Given the description of an element on the screen output the (x, y) to click on. 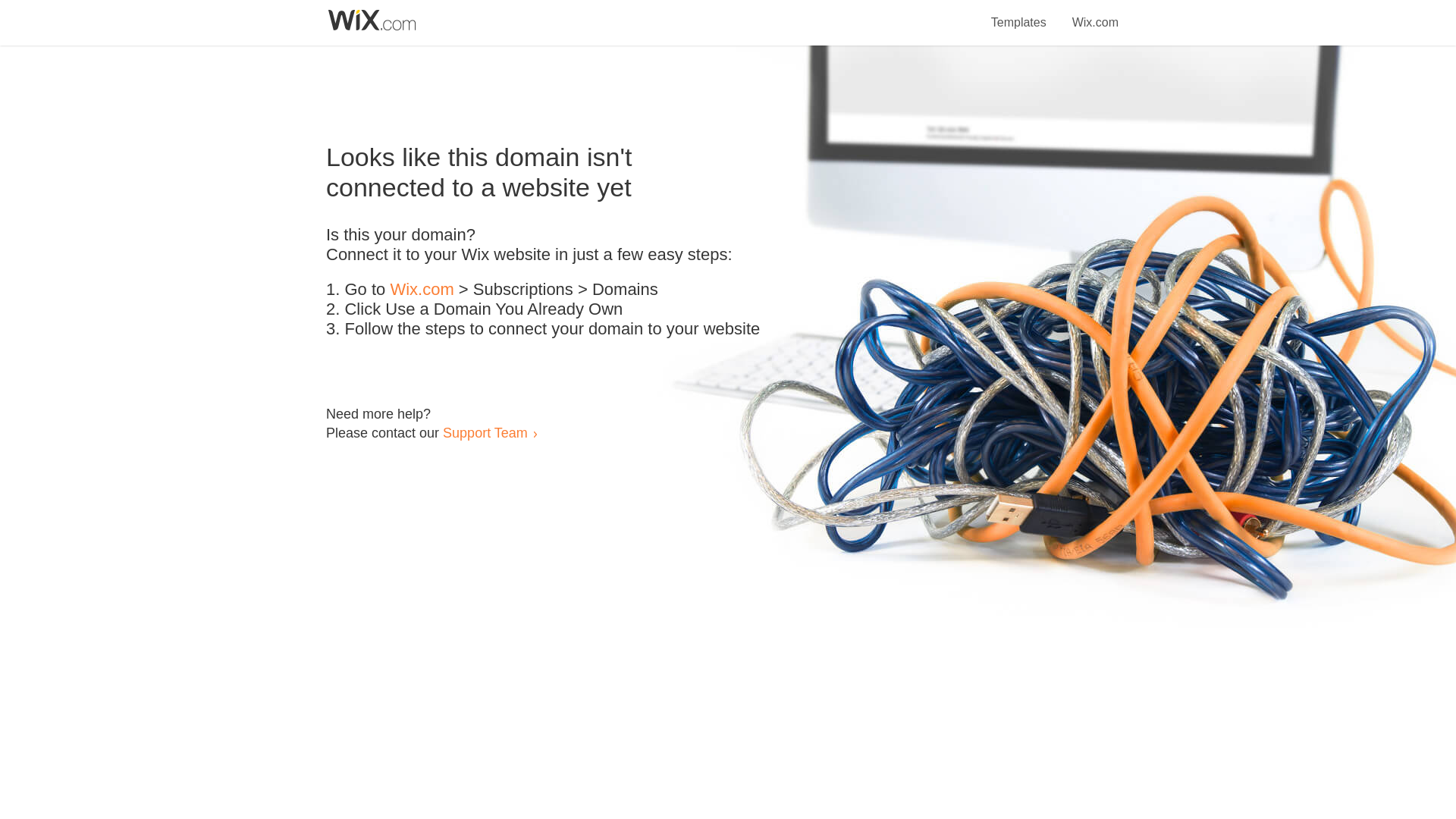
Templates (1018, 14)
Wix.com (421, 289)
Support Team (484, 432)
Wix.com (1095, 14)
